Given the description of an element on the screen output the (x, y) to click on. 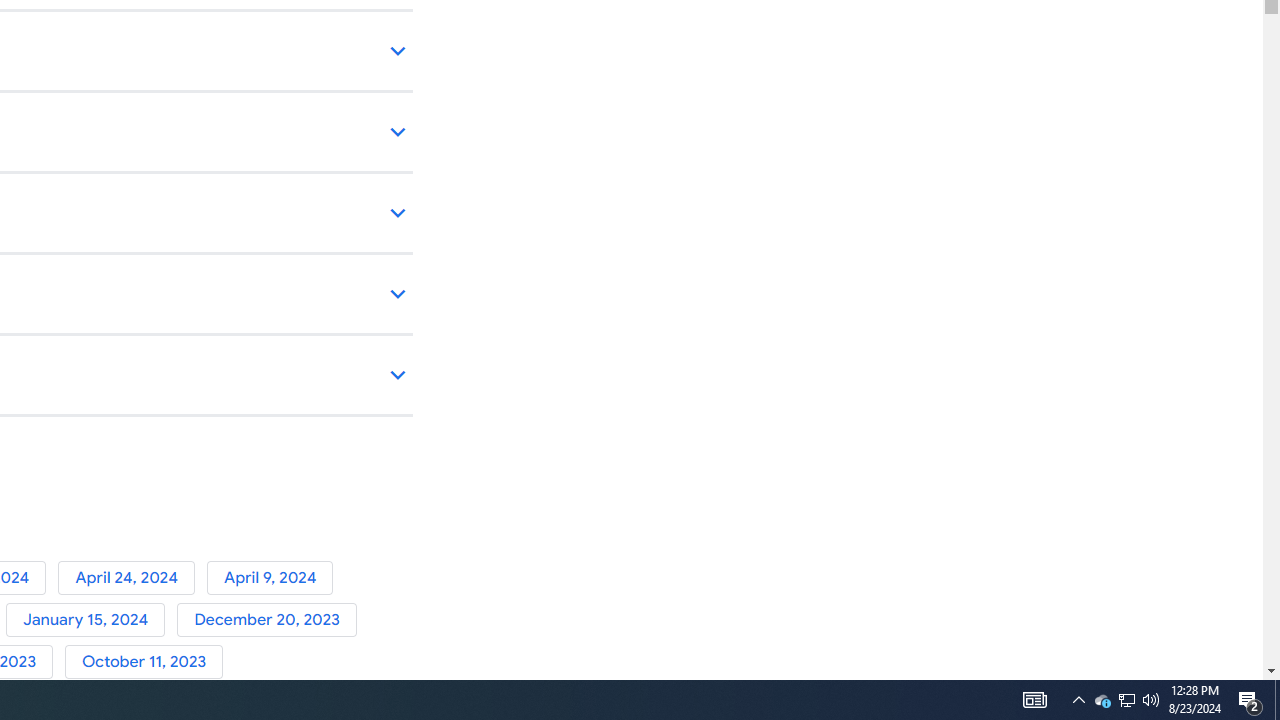
April 9, 2024 (273, 577)
October 11, 2023 (147, 661)
April 24, 2024 (132, 577)
January 15, 2024 (91, 620)
December 20, 2023 (270, 620)
